Given the description of an element on the screen output the (x, y) to click on. 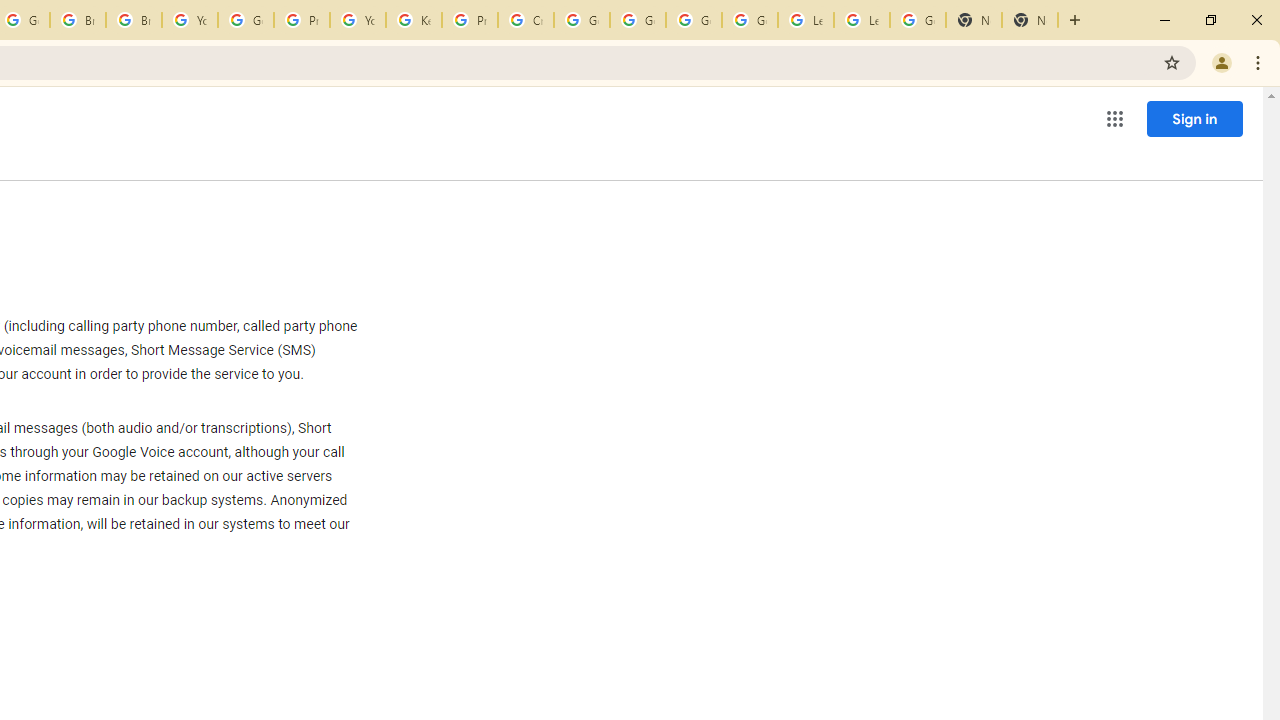
New Tab (973, 20)
YouTube (189, 20)
Google Account Help (693, 20)
Google Account Help (749, 20)
New Tab (1030, 20)
Brand Resource Center (77, 20)
Google Account Help (245, 20)
